Given the description of an element on the screen output the (x, y) to click on. 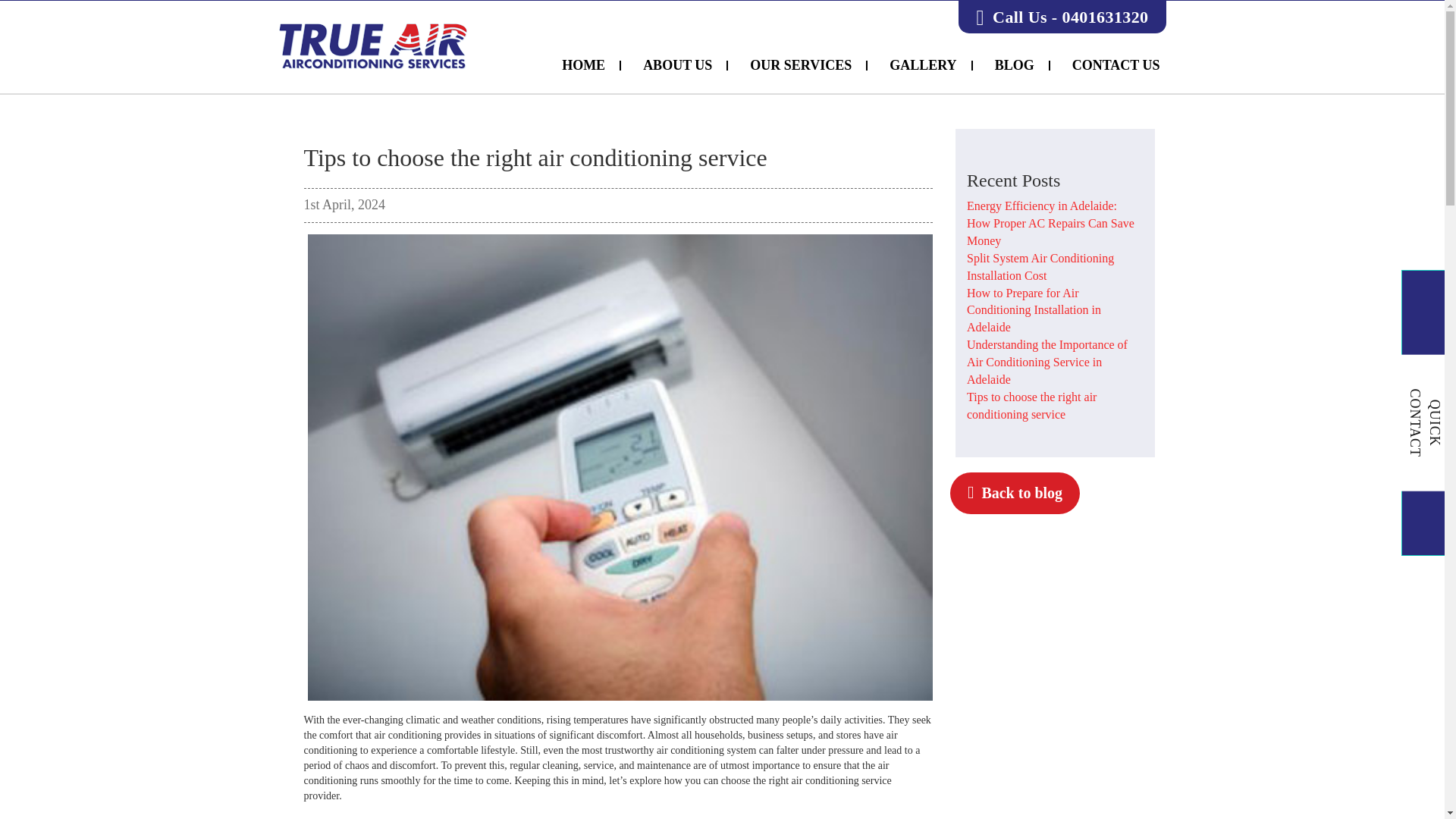
CONTACT US (1116, 65)
GALLERY (923, 65)
Tips to choose the right air conditioning service (1031, 405)
BLOG (1014, 65)
ABOUT US (678, 65)
Back to blog (1015, 493)
0401631320 (1104, 16)
Split System Air Conditioning Installation Cost (1039, 266)
OUR SERVICES (801, 65)
How to Prepare for Air Conditioning Installation in Adelaide (1033, 310)
HOME (584, 65)
